Given the description of an element on the screen output the (x, y) to click on. 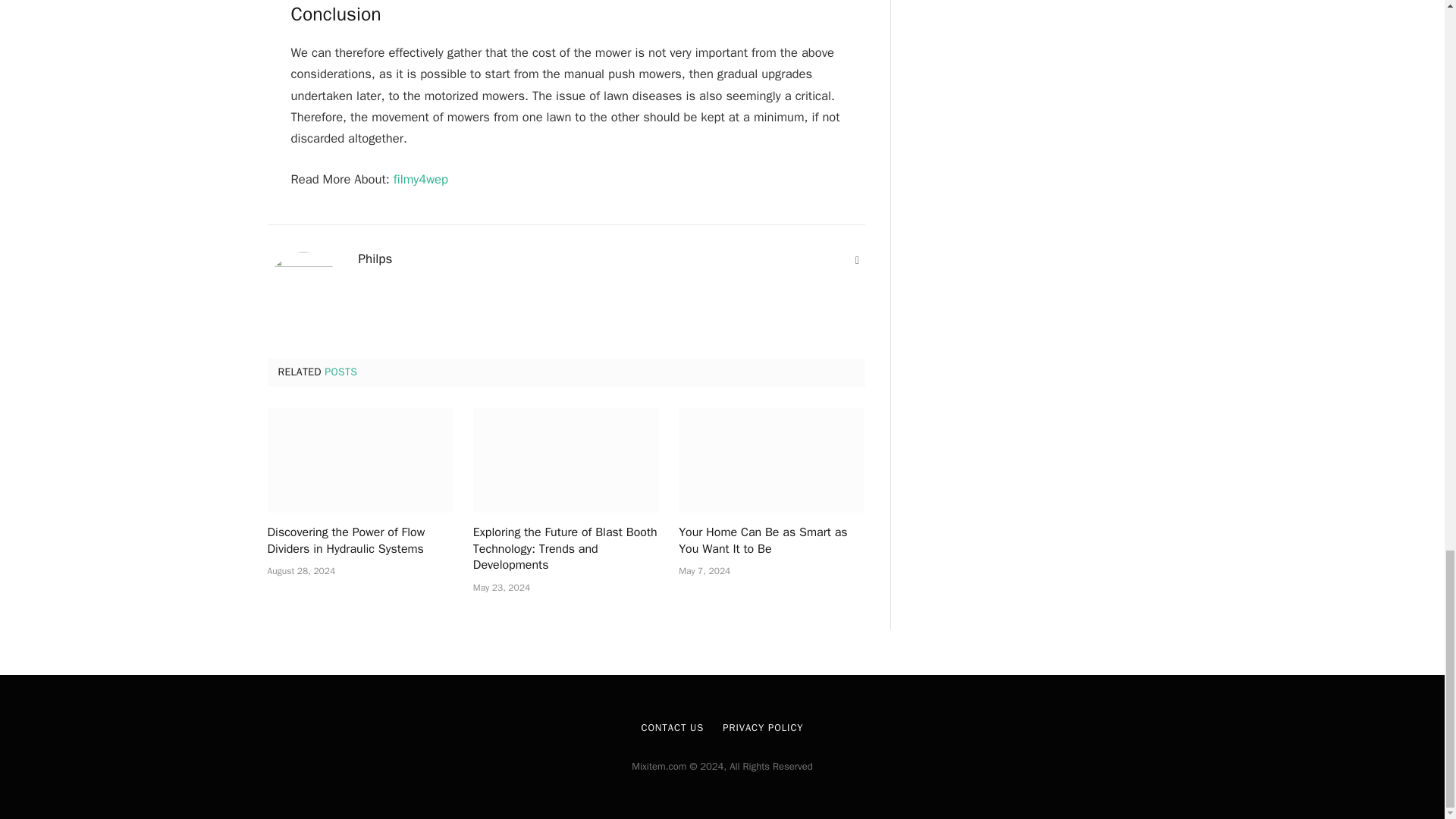
filmy4wep (420, 179)
Website (856, 260)
Philps (374, 258)
